Given the description of an element on the screen output the (x, y) to click on. 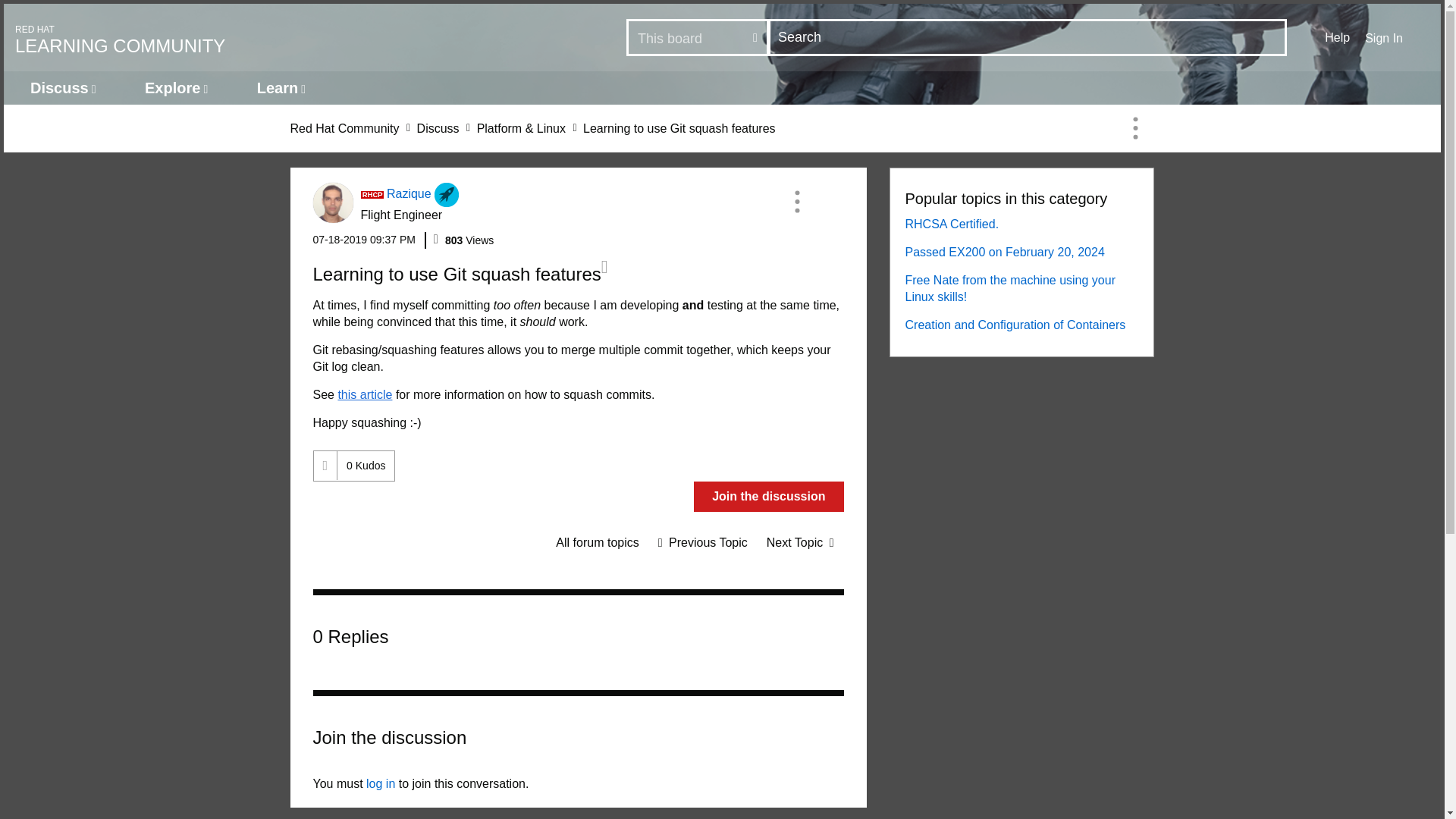
Red Hat Community (343, 128)
Flight Engineer (372, 194)
Options (1135, 127)
Show option menu (796, 201)
Discuss (63, 87)
Learn (281, 87)
Discuss (438, 128)
Razique (269, 37)
Help (332, 202)
